Given the description of an element on the screen output the (x, y) to click on. 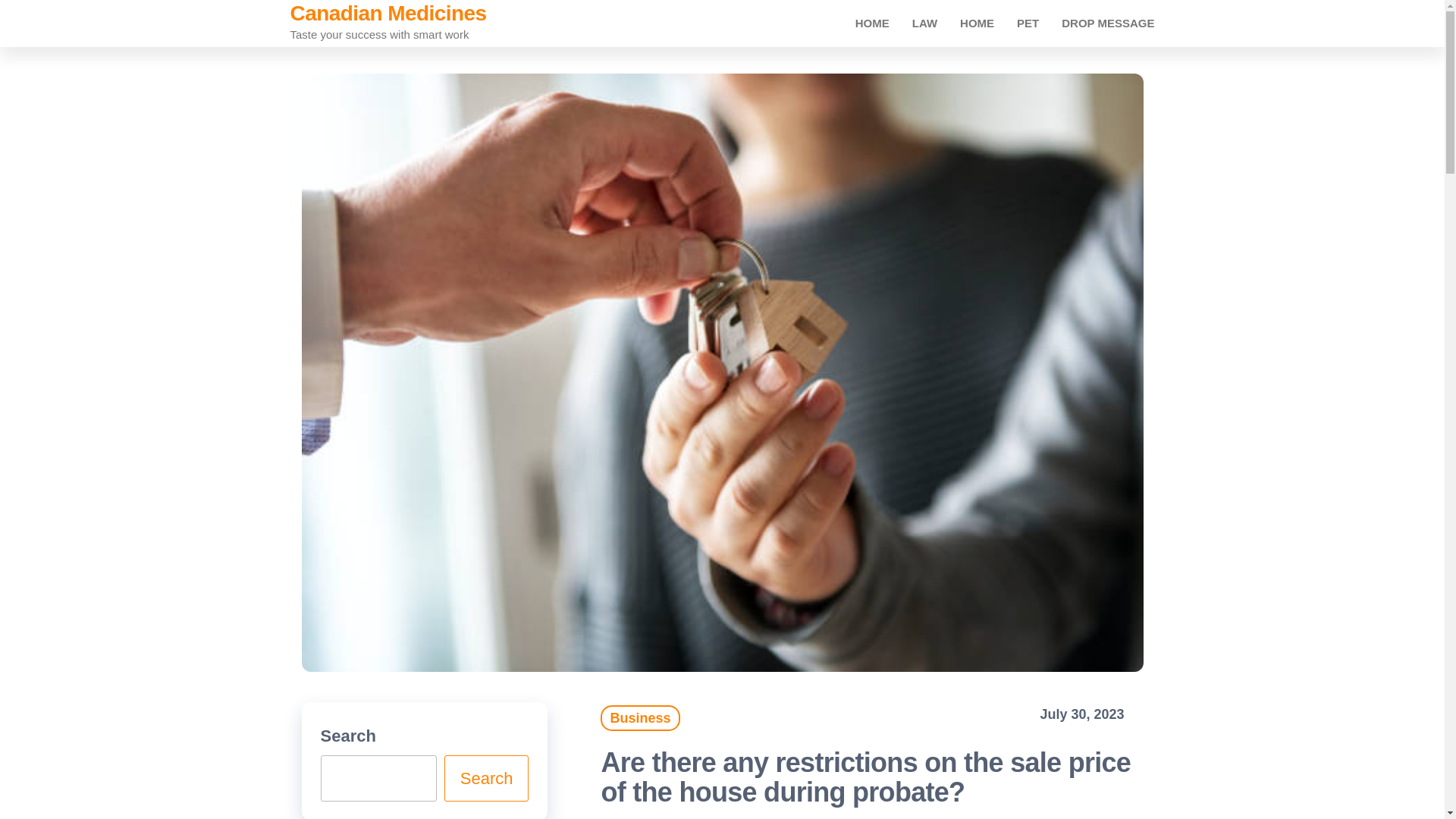
HOME (872, 22)
Search (486, 778)
Law (925, 22)
Pet (1027, 22)
Canadian Medicines (387, 13)
Business (639, 718)
LAW (925, 22)
Drop Message (1107, 22)
DROP MESSAGE (1107, 22)
PET (1027, 22)
HOME (977, 22)
Home (872, 22)
Home (977, 22)
